Given the description of an element on the screen output the (x, y) to click on. 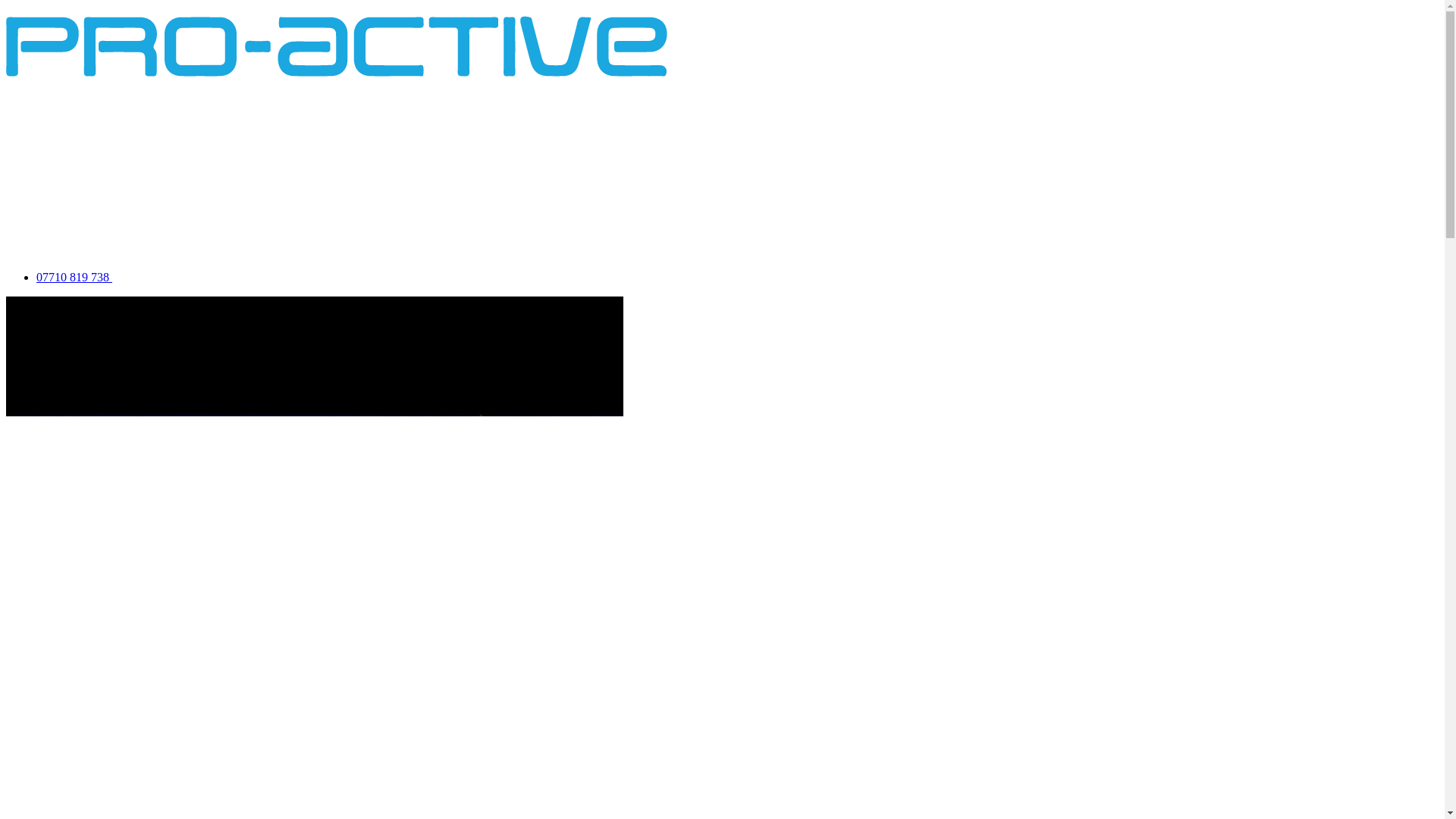
07710 819 738 (126, 277)
